Given the description of an element on the screen output the (x, y) to click on. 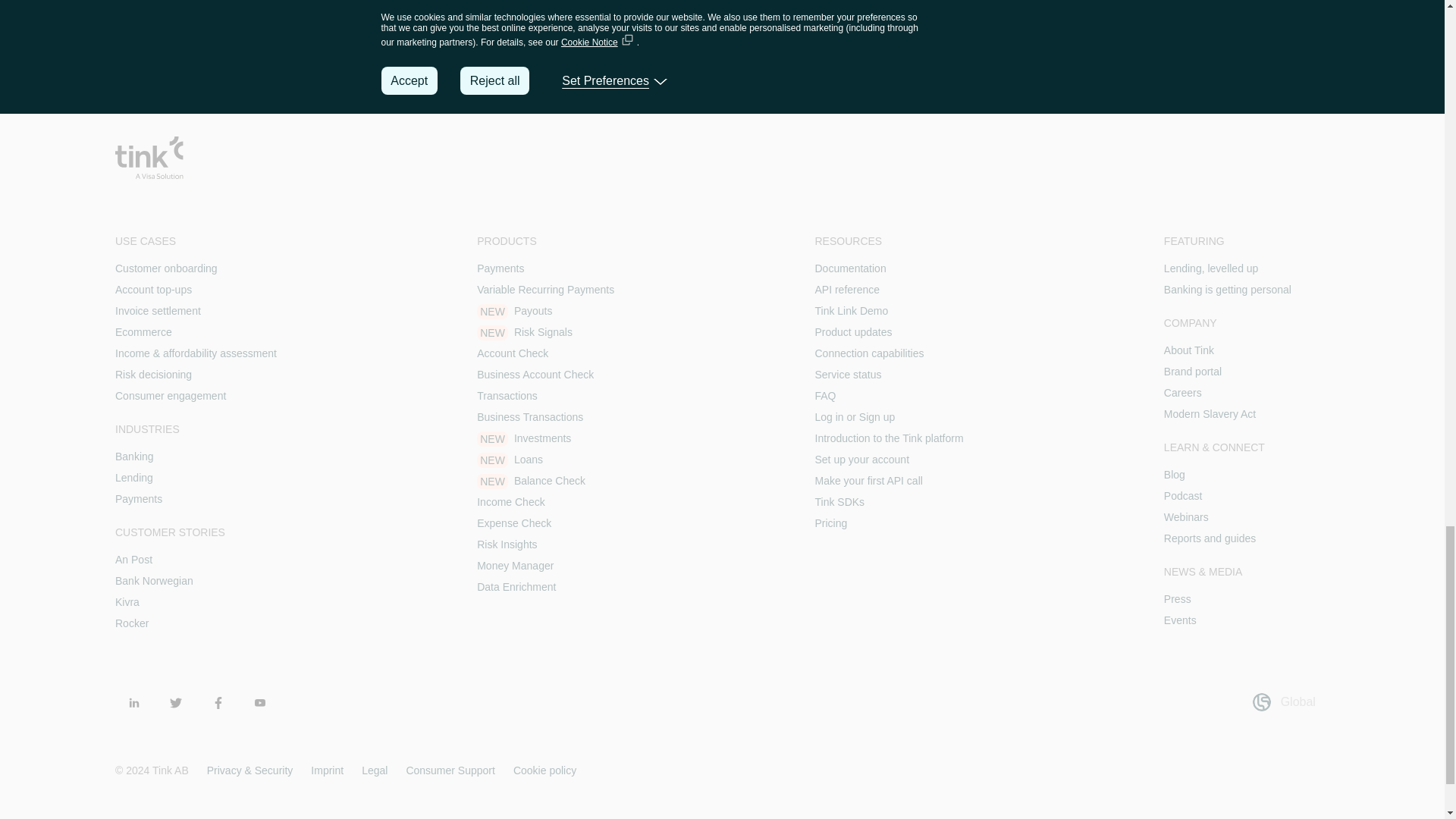
Risk decisioning (153, 374)
Business Account Check (535, 374)
NEWRisk Signals (524, 331)
Lending (133, 477)
USE CASES (195, 240)
PRODUCTS (545, 240)
INDUSTRIES (195, 428)
Account top-ups (153, 289)
An Post (133, 559)
Variable Recurring Payments (545, 289)
Bank Norwegian (154, 580)
Consumer engagement (170, 395)
Customer onboarding (165, 268)
Banking (134, 456)
Ecommerce (143, 331)
